Given the description of an element on the screen output the (x, y) to click on. 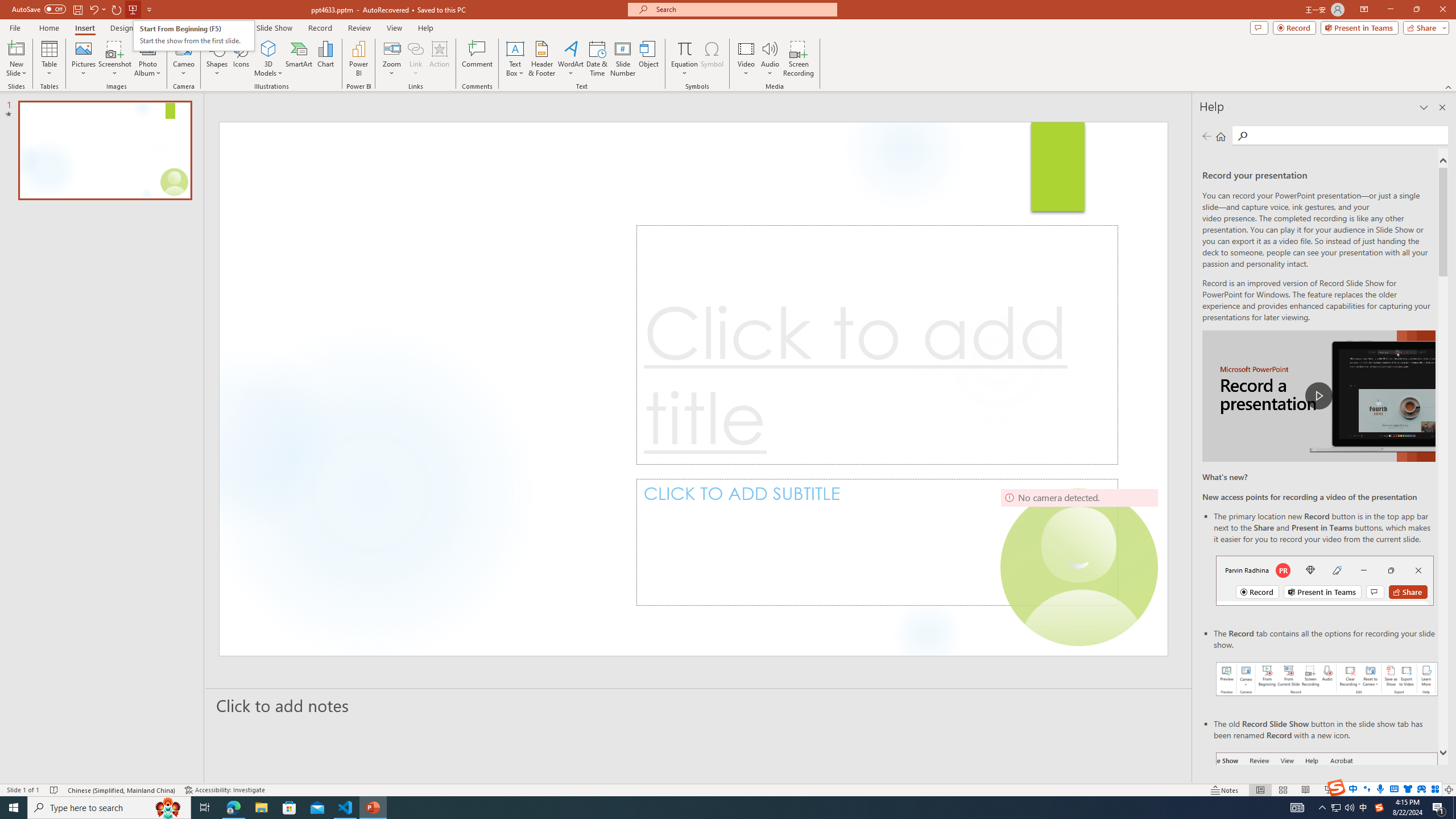
Object... (649, 58)
Comment (476, 58)
Screen Recording... (798, 58)
3D Models (268, 48)
Icons (240, 58)
Pictures (83, 58)
